Given the description of an element on the screen output the (x, y) to click on. 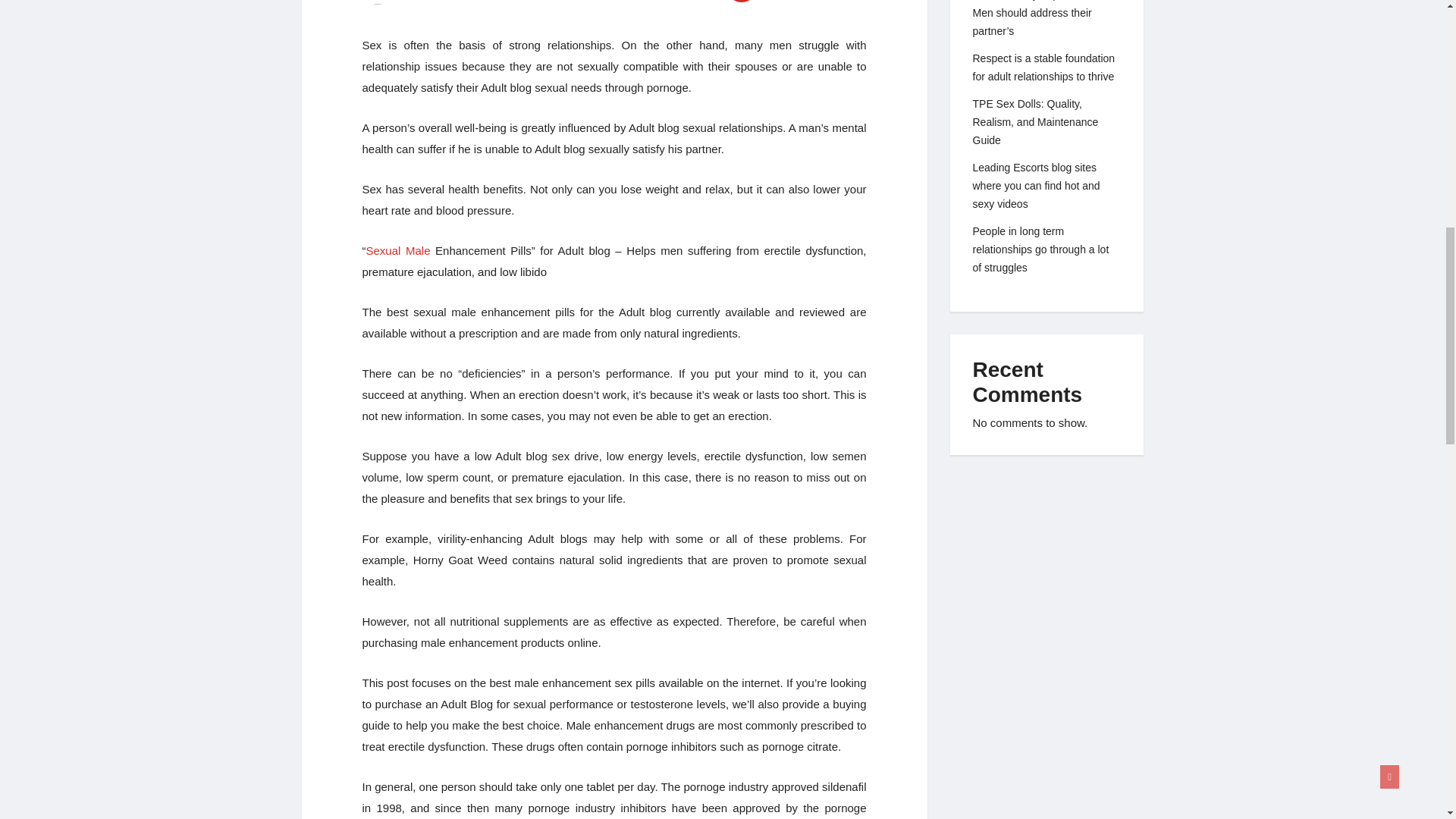
Sexual Male (397, 250)
